Given the description of an element on the screen output the (x, y) to click on. 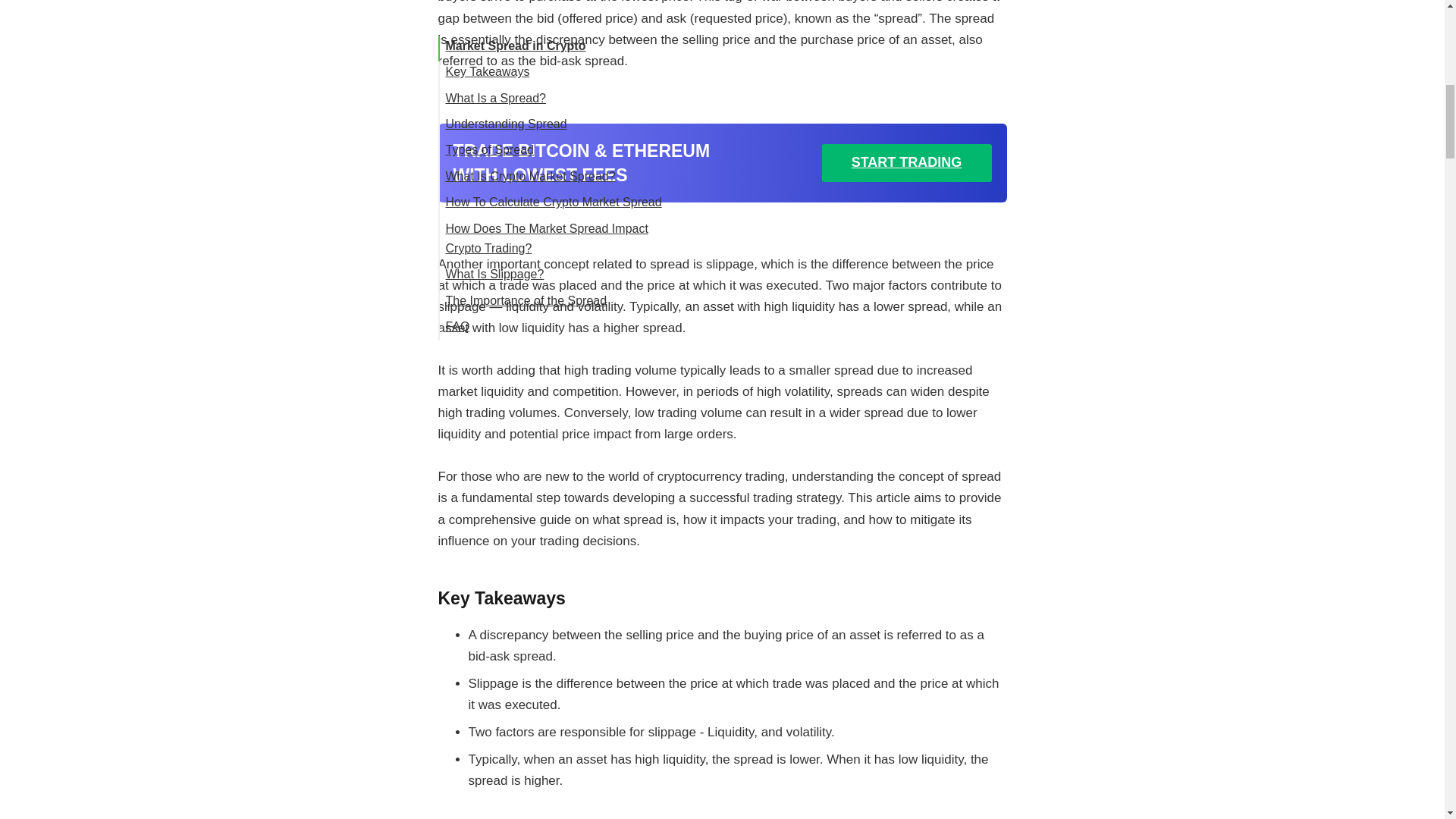
The Importance of the Spread (526, 142)
What Is Crypto Market Spread? (530, 18)
How To Calculate Crypto Market Spread (553, 43)
How Does The Market Spread Impact Crypto Trading? (546, 80)
FAQ (457, 168)
START TRADING (906, 162)
What Is Slippage? (494, 115)
